Given the description of an element on the screen output the (x, y) to click on. 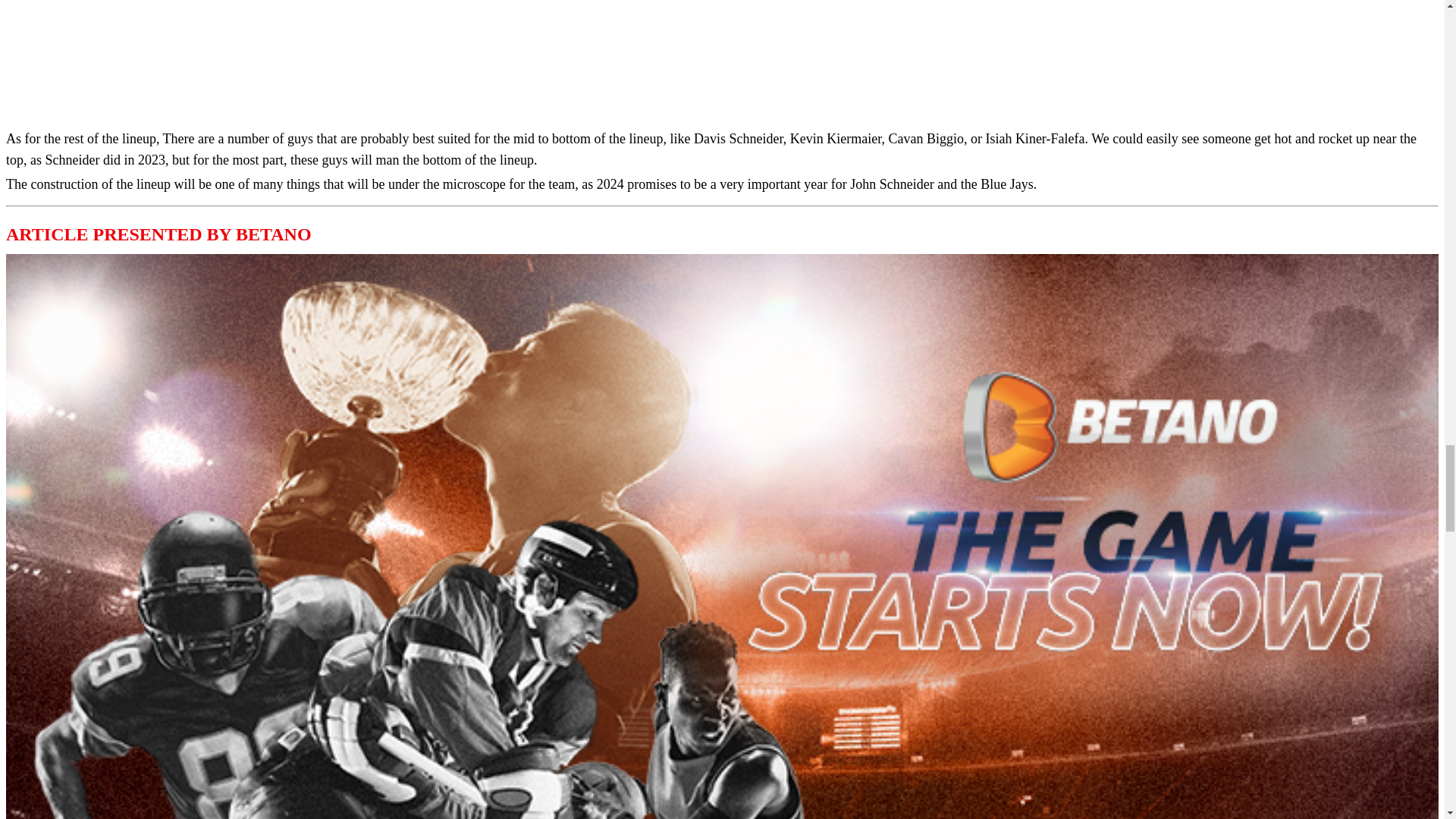
ARTICLE PRESENTED BY BETANO (158, 234)
